Given the description of an element on the screen output the (x, y) to click on. 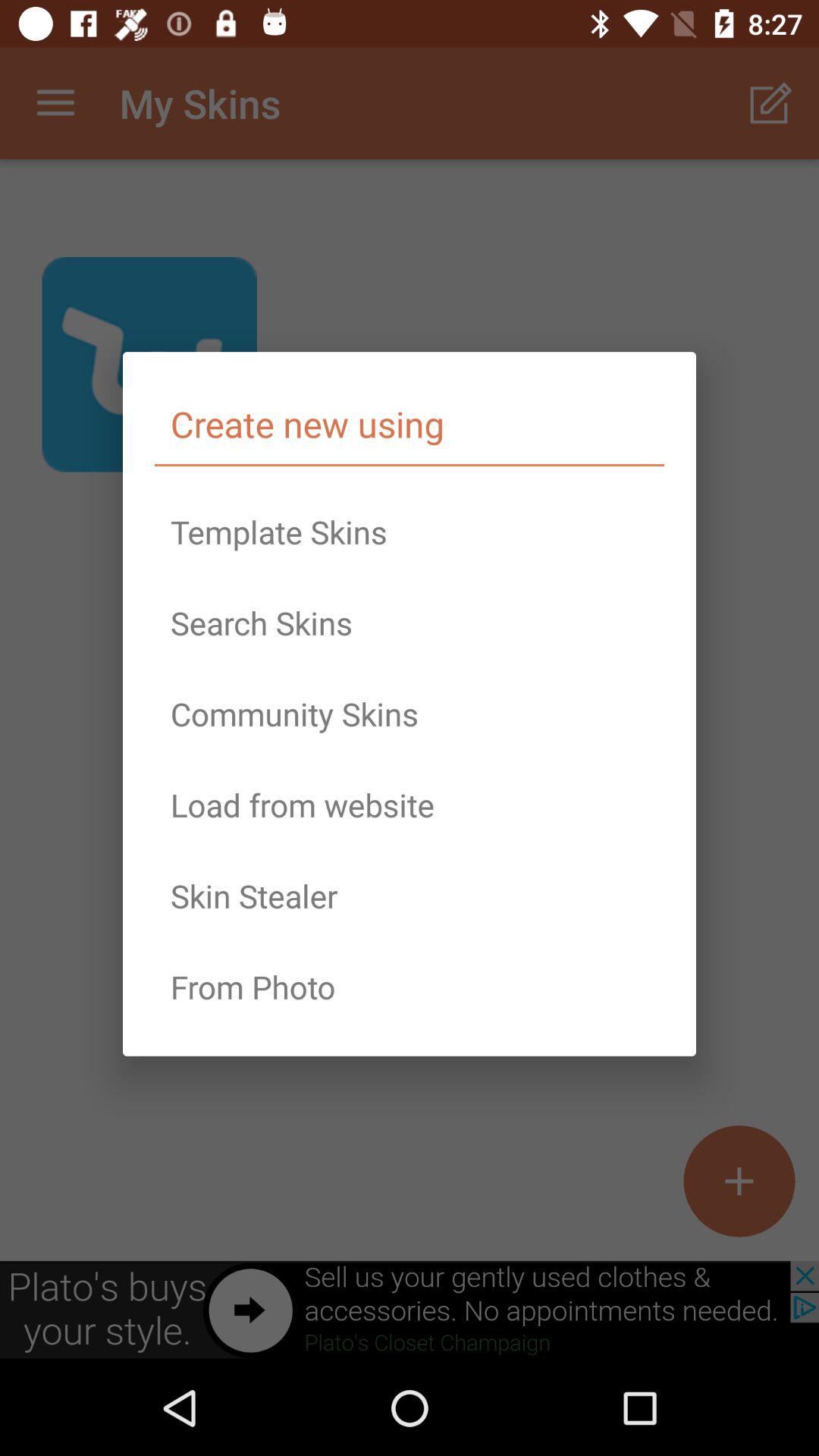
open search skins icon (409, 622)
